Given the description of an element on the screen output the (x, y) to click on. 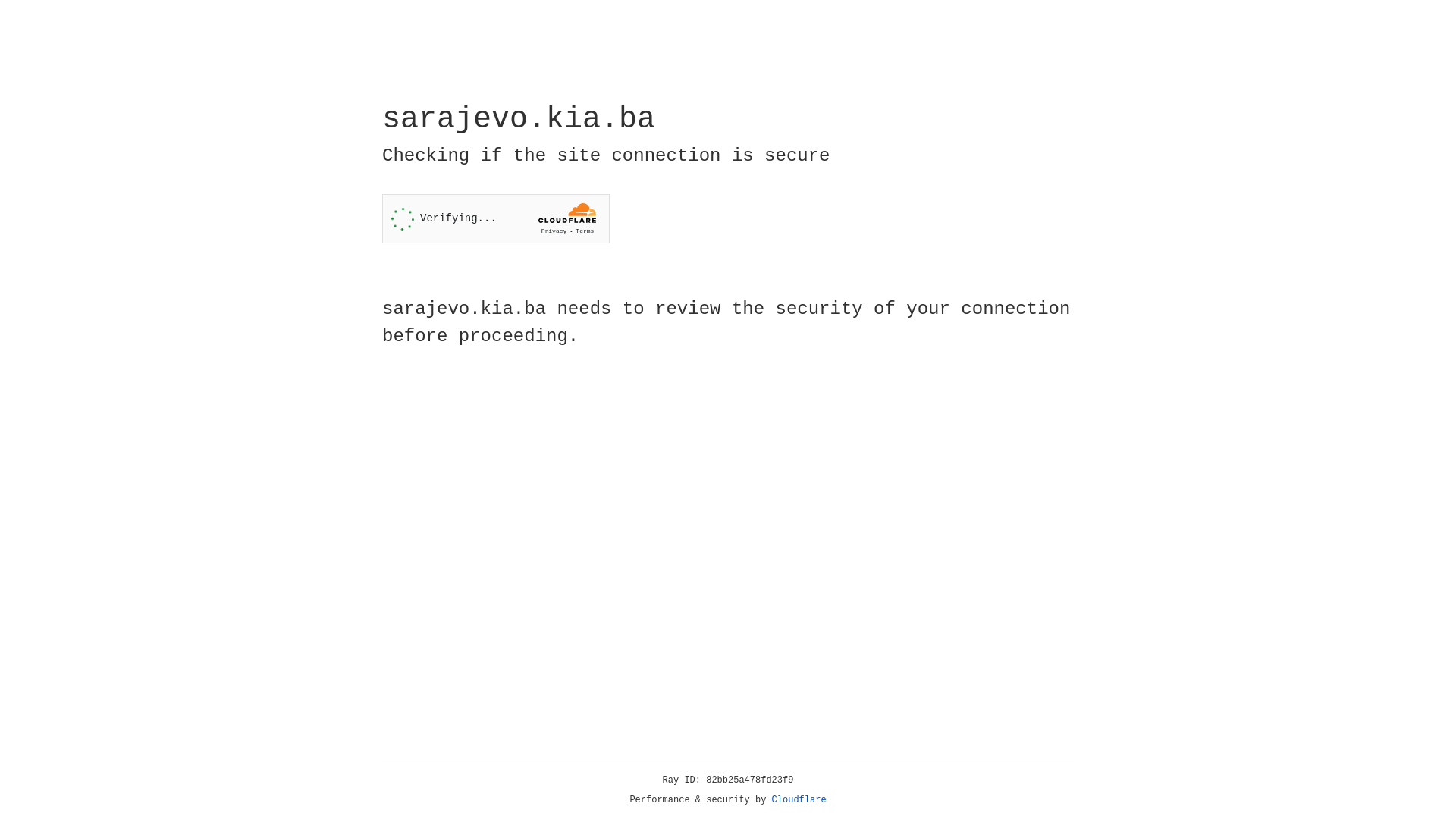
Cloudflare Element type: text (798, 799)
